Given the description of an element on the screen output the (x, y) to click on. 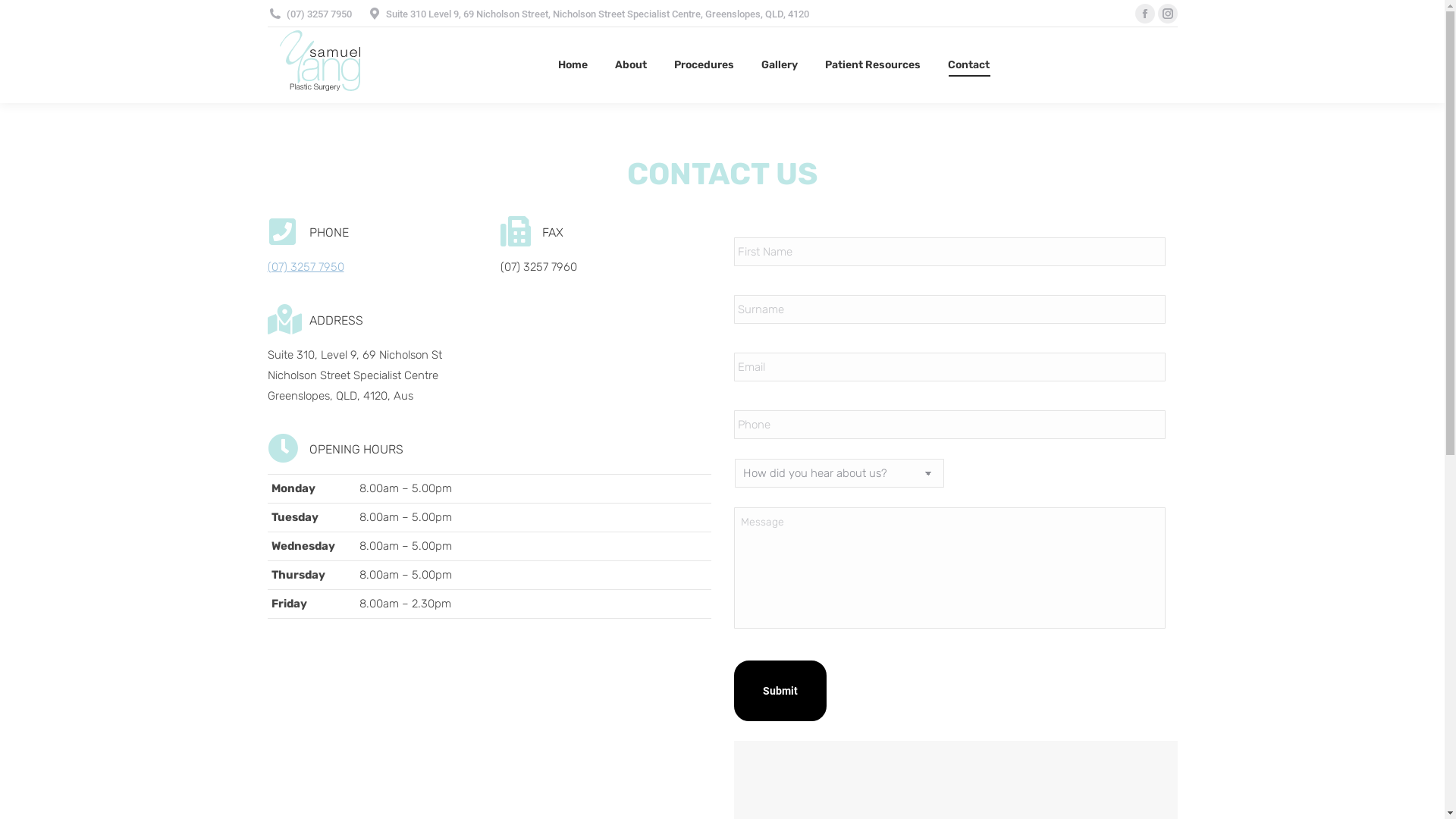
Patient Resources Element type: text (872, 64)
(07) 3257 7950 Element type: text (304, 266)
Instagram page opens in new window Element type: text (1166, 13)
Facebook page opens in new window Element type: text (1144, 13)
Contact Element type: text (968, 64)
Gallery Element type: text (779, 64)
About Element type: text (630, 64)
Home Element type: text (572, 64)
Procedures Element type: text (703, 64)
(07) 3257 7950 Element type: text (318, 13)
Submit Element type: text (780, 690)
